Given the description of an element on the screen output the (x, y) to click on. 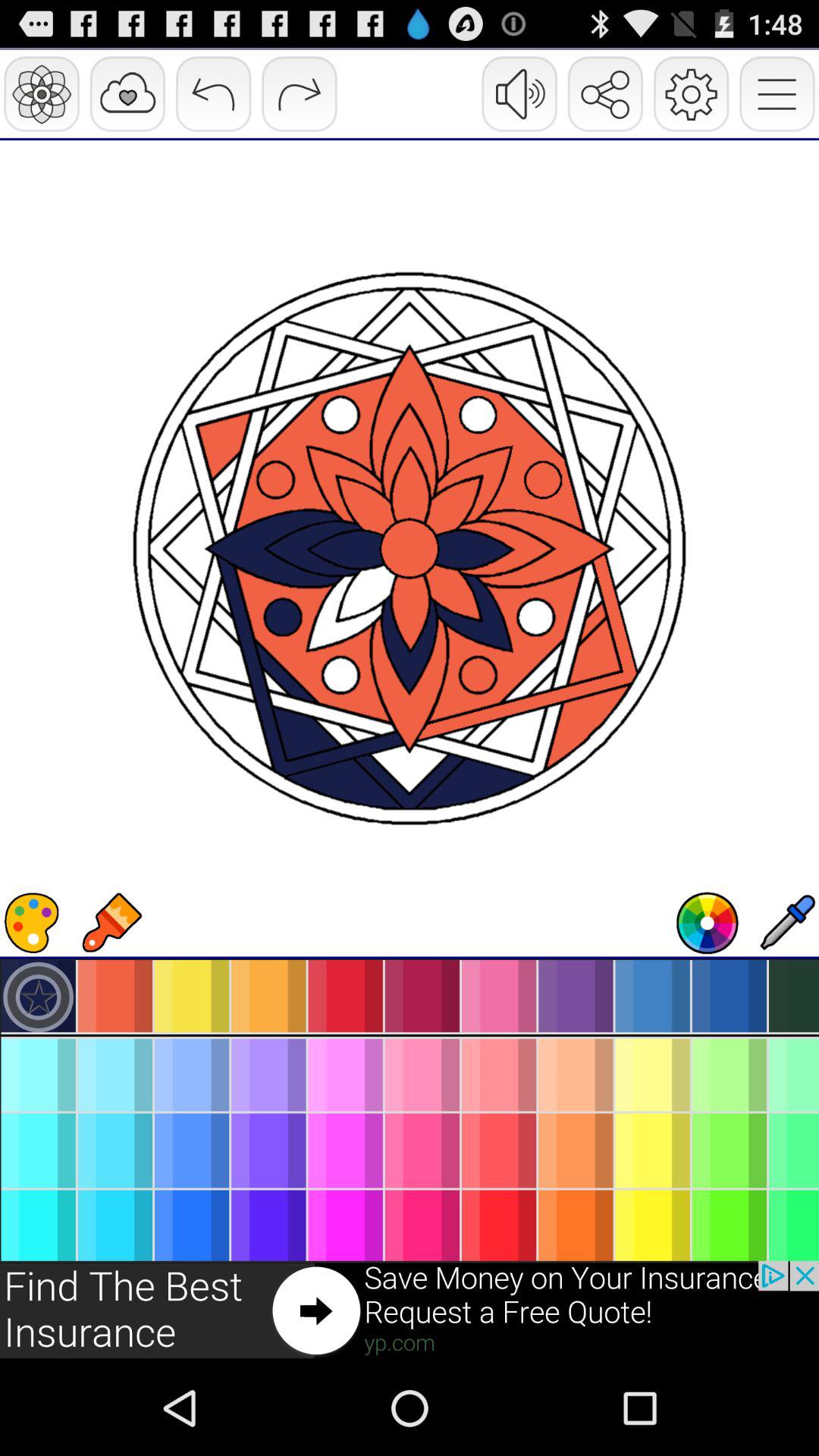
add sound (707, 922)
